Given the description of an element on the screen output the (x, y) to click on. 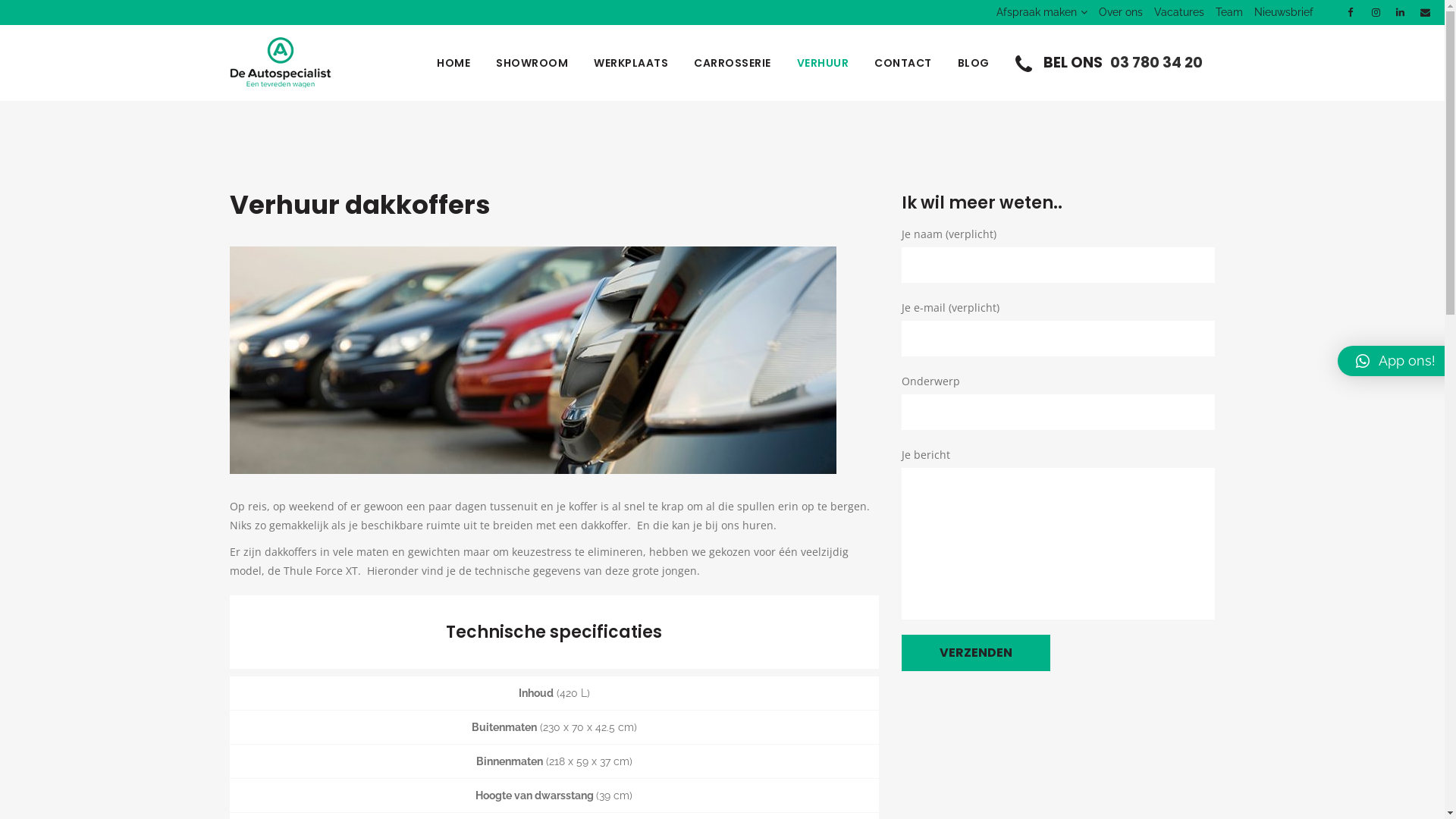
Team Element type: text (1223, 12)
03 780 34 20 Element type: text (1156, 62)
Verzenden Element type: text (975, 652)
SHOWROOM Element type: text (531, 62)
VERHUUR Element type: text (823, 62)
BLOG Element type: text (973, 62)
privelease 860x320 Element type: hover (532, 359)
Afspraak maken Element type: text (1036, 12)
Over ons Element type: text (1114, 12)
Vacatures Element type: text (1173, 12)
CARROSSERIE Element type: text (732, 62)
WERKPLAATS Element type: text (630, 62)
CONTACT Element type: text (902, 62)
Nieuwsbrief Element type: text (1277, 12)
HOME Element type: text (453, 62)
